Given the description of an element on the screen output the (x, y) to click on. 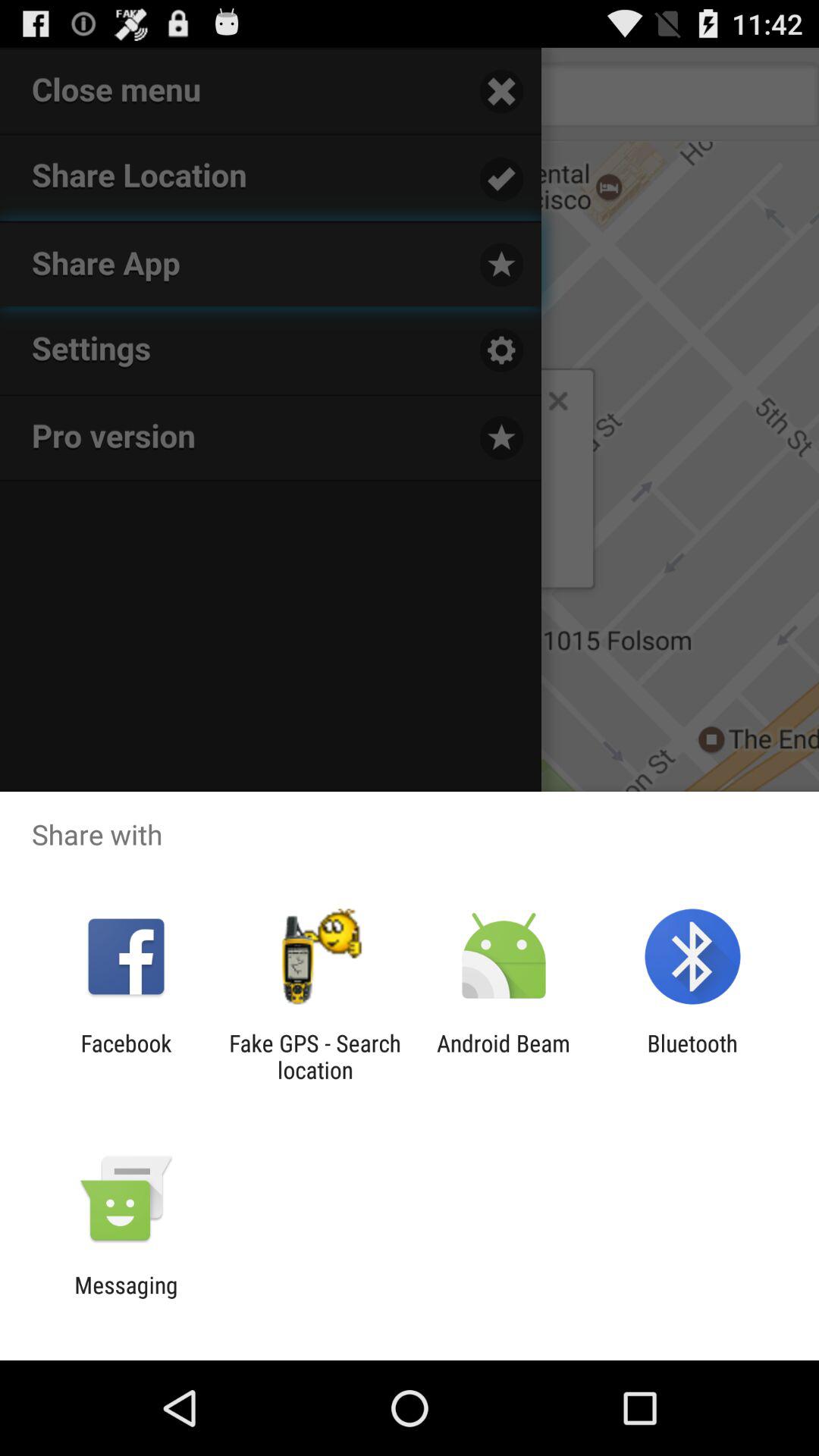
select app to the right of android beam (692, 1056)
